Given the description of an element on the screen output the (x, y) to click on. 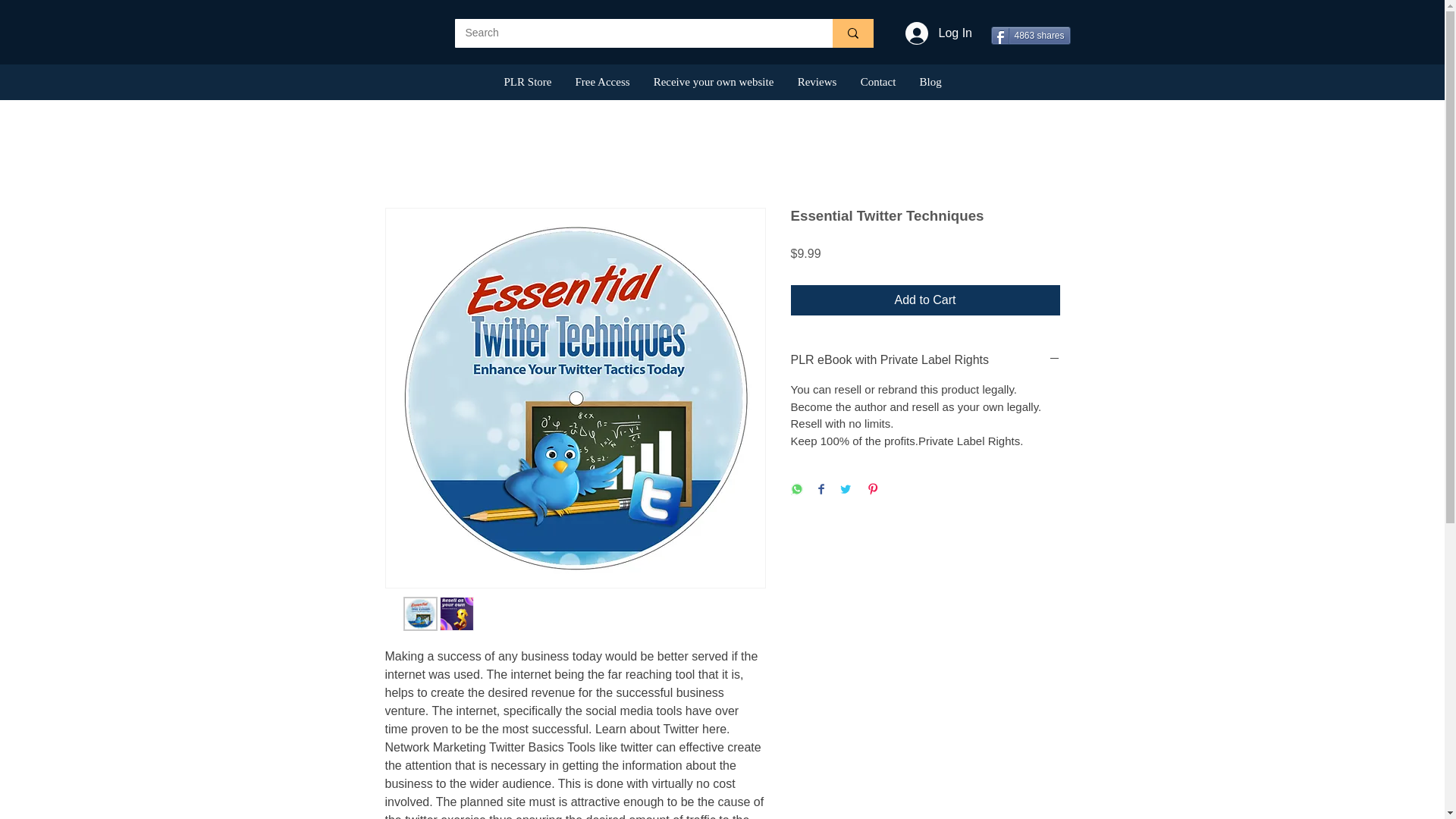
4863 shares (1030, 35)
Add to Cart (924, 300)
Contact (877, 81)
Receive your own website (714, 81)
Blog (929, 81)
PLR eBook with Private Label Rights (924, 360)
4863 shares (1030, 35)
PLR Store (527, 81)
Free Access (601, 81)
Log In (928, 33)
Reviews (817, 81)
